Given the description of an element on the screen output the (x, y) to click on. 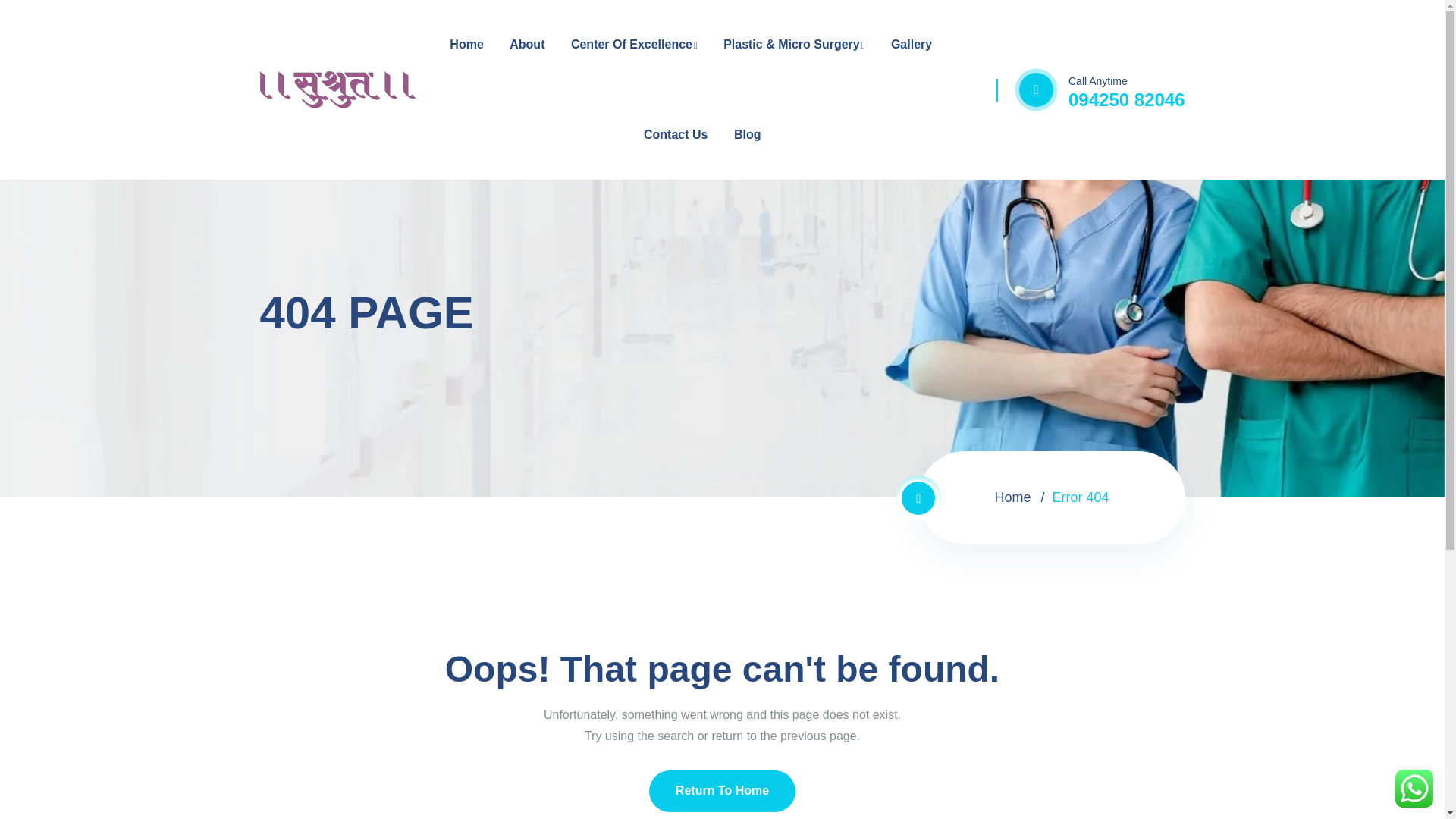
Center Of Excellence (633, 45)
094250 82046 (1126, 99)
